Given the description of an element on the screen output the (x, y) to click on. 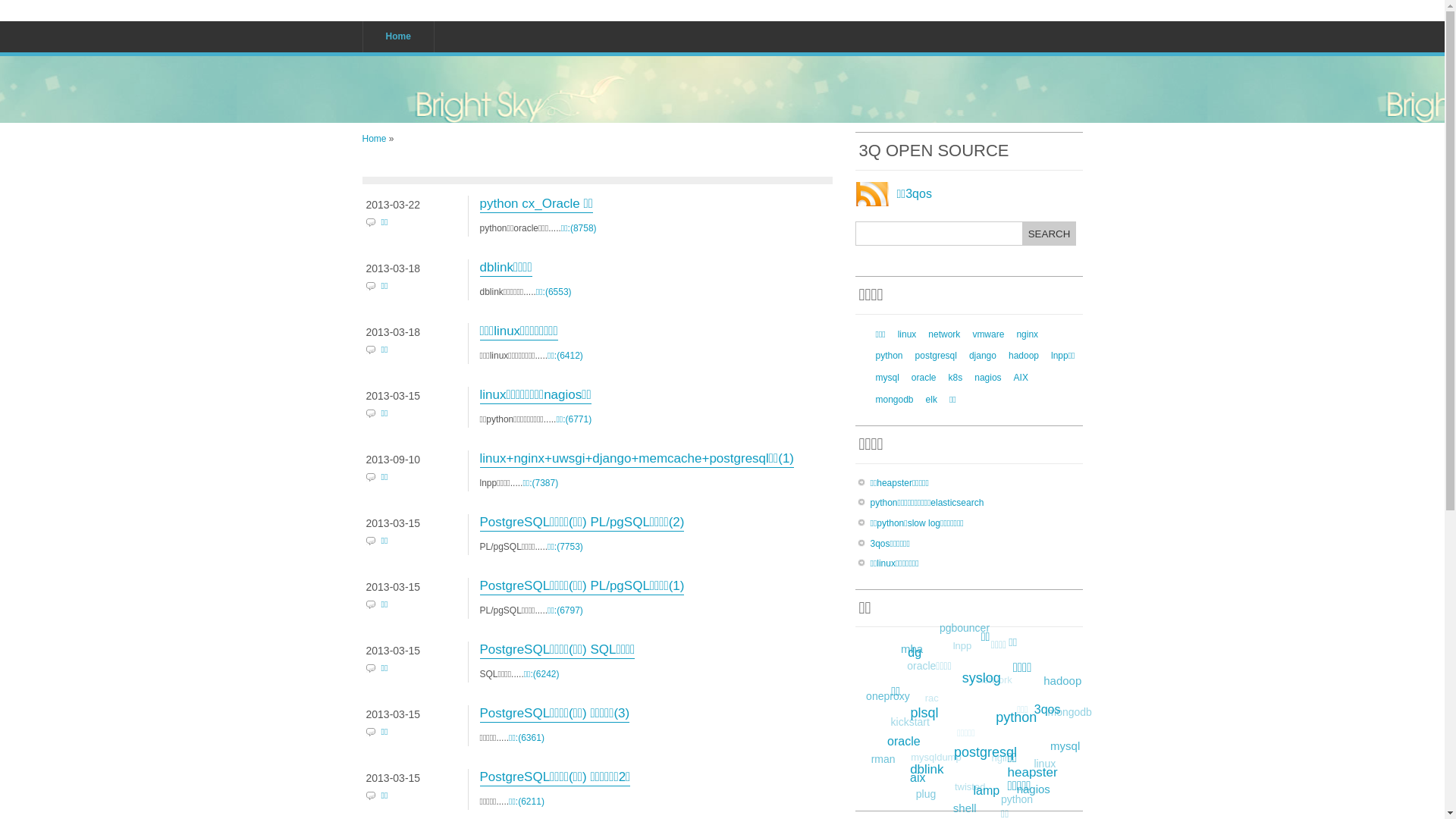
3qos Element type: text (1047, 709)
Search Element type: text (1048, 233)
plug Element type: text (925, 793)
postgresql Element type: text (936, 355)
oracle Element type: text (903, 741)
oneproxy Element type: text (887, 696)
hadoop Element type: text (1061, 680)
mysql Element type: text (1064, 746)
aix Element type: text (917, 777)
rac Element type: text (930, 698)
lamp Element type: text (986, 790)
nagios Element type: text (1033, 788)
syslog Element type: text (981, 677)
mysqldump Element type: text (935, 757)
lnpp Element type: text (962, 646)
hadoop Element type: text (1023, 355)
pgbouncer Element type: text (964, 627)
nginx Element type: text (1002, 758)
nagios Element type: text (987, 377)
network Element type: text (944, 334)
Home Element type: text (397, 36)
dg Element type: text (914, 652)
nginx Element type: text (1027, 334)
Home Element type: text (374, 138)
elk Element type: text (931, 399)
twisted Element type: text (969, 787)
vmware Element type: text (988, 334)
mysql Element type: text (886, 377)
mongodb Element type: text (1069, 711)
python Element type: text (1016, 717)
plsql Element type: text (924, 712)
k8s Element type: text (955, 377)
kickstart Element type: text (909, 721)
linux Element type: text (906, 334)
django Element type: text (982, 355)
dblink Element type: text (926, 769)
mongodb Element type: text (894, 399)
shell Element type: text (964, 808)
network Element type: text (994, 680)
python Element type: text (888, 355)
linux Element type: text (1044, 763)
mha Element type: text (911, 649)
oracle Element type: text (923, 377)
rman Element type: text (883, 758)
postgresql Element type: text (985, 752)
AIX Element type: text (1020, 377)
